Given the description of an element on the screen output the (x, y) to click on. 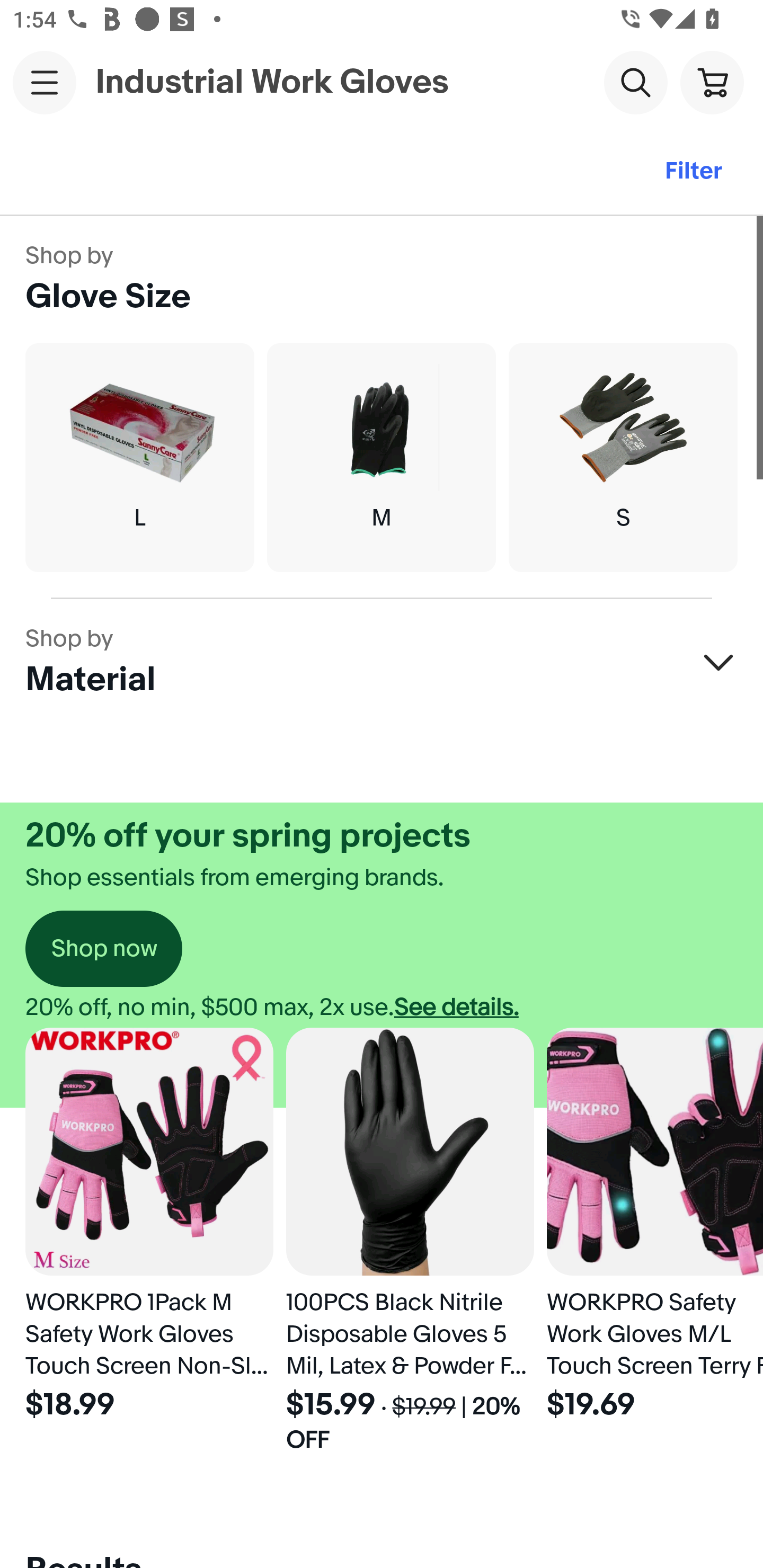
Main navigation, open (44, 82)
Search (635, 81)
Cart button shopping cart (711, 81)
Filter (693, 171)
L (139, 457)
M (381, 457)
S (622, 457)
Shop by Material (381, 661)
